Given the description of an element on the screen output the (x, y) to click on. 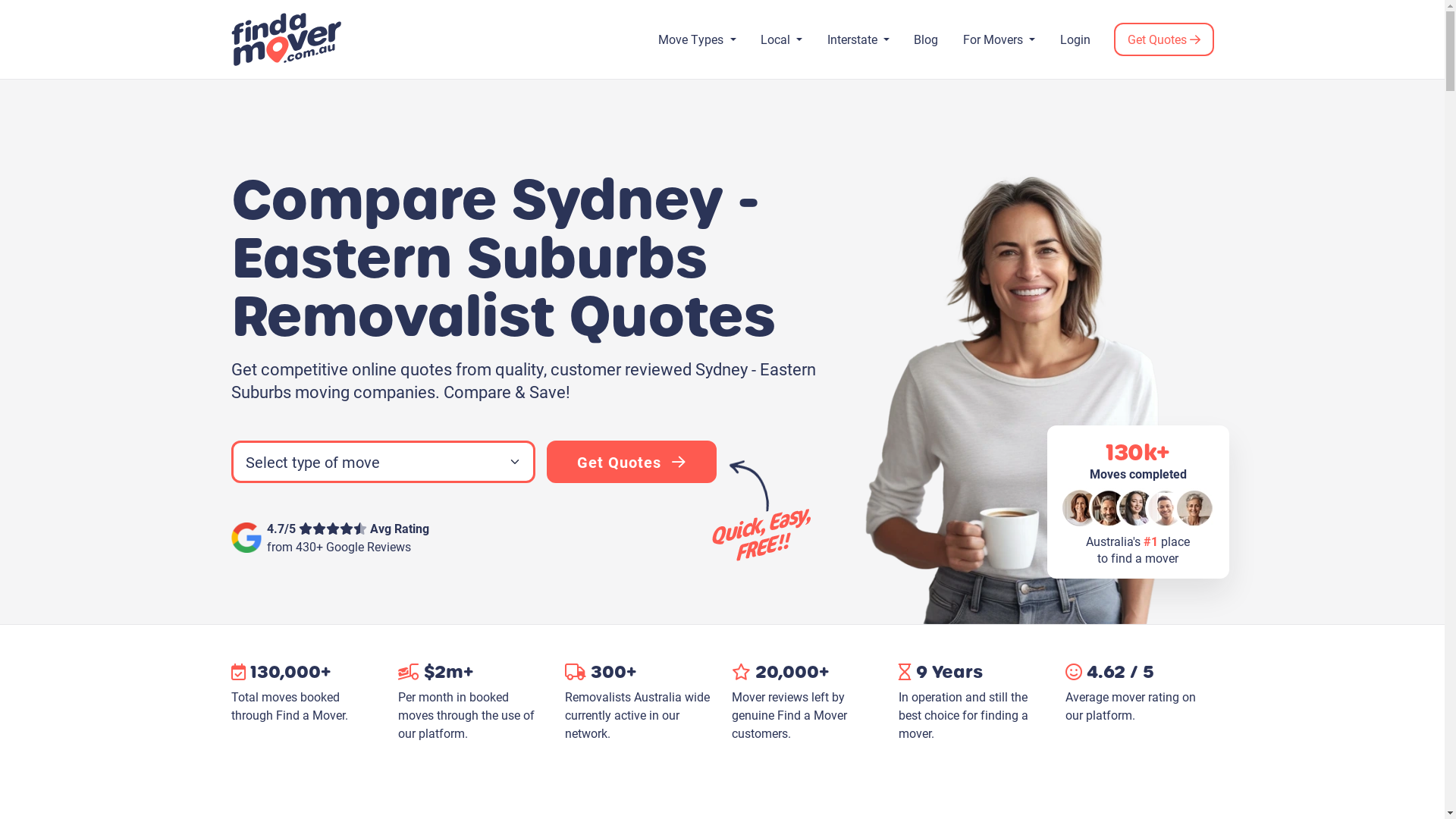
Get Quotes Element type: text (631, 461)
Get Quotes Element type: text (1163, 39)
Interstate Element type: text (857, 39)
Login Element type: text (1074, 39)
Blog Element type: text (926, 39)
For Movers Element type: text (998, 39)
Move Types Element type: text (697, 39)
Local Element type: text (781, 39)
